Given the description of an element on the screen output the (x, y) to click on. 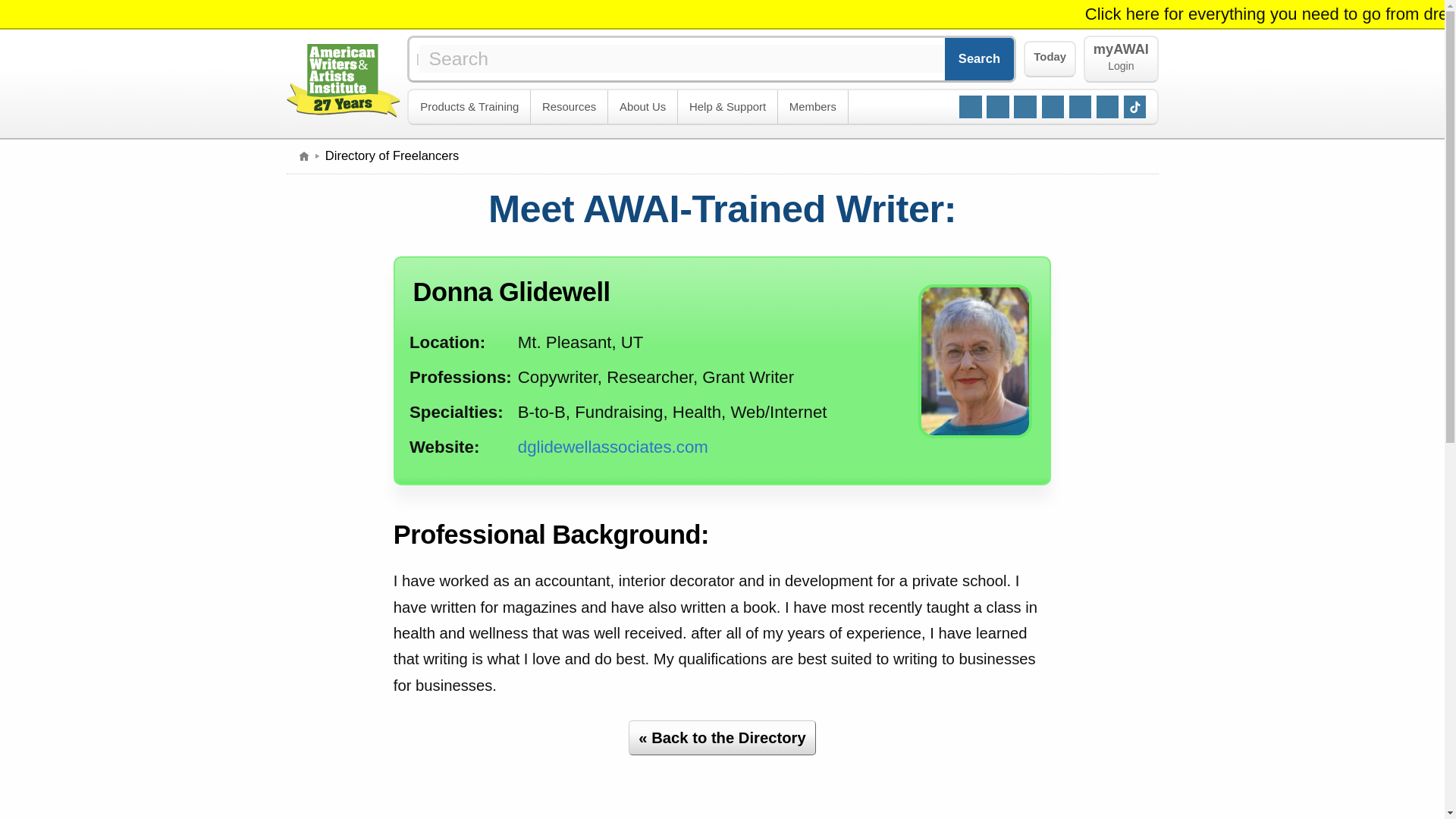
Today (1049, 58)
About Us (643, 107)
Search (979, 58)
Resources (569, 107)
Members (812, 107)
